Given the description of an element on the screen output the (x, y) to click on. 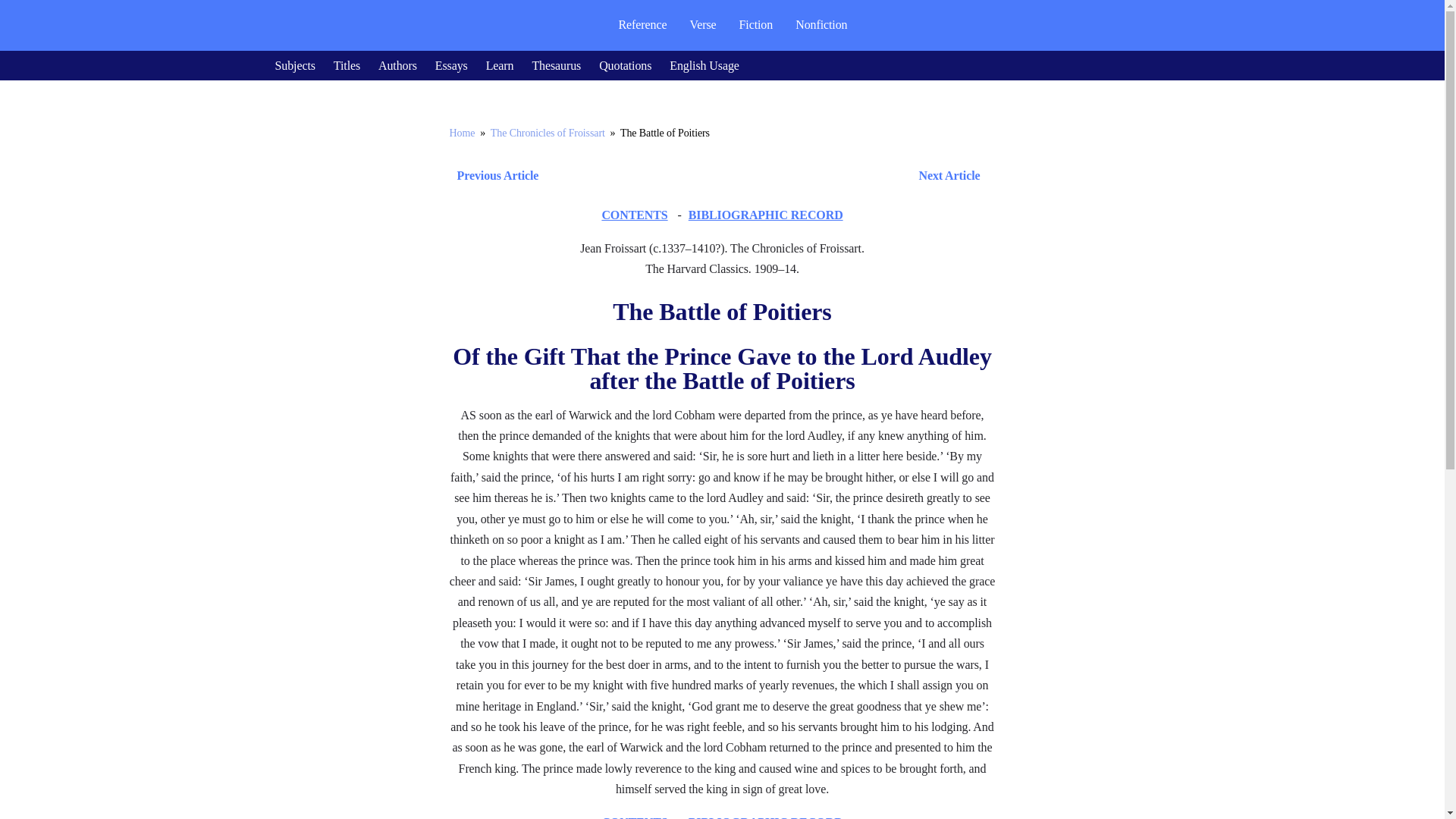
Next Article (766, 175)
The Chronicles of Froissart (547, 132)
English Usage (704, 65)
Essays (451, 65)
BIBLIOGRAPHIC RECORD (765, 817)
Nonfiction (821, 24)
Thesaurus (555, 65)
CONTENTS (633, 817)
Titles (346, 65)
BIBLIOGRAPHIC RECORD (765, 214)
